Given the description of an element on the screen output the (x, y) to click on. 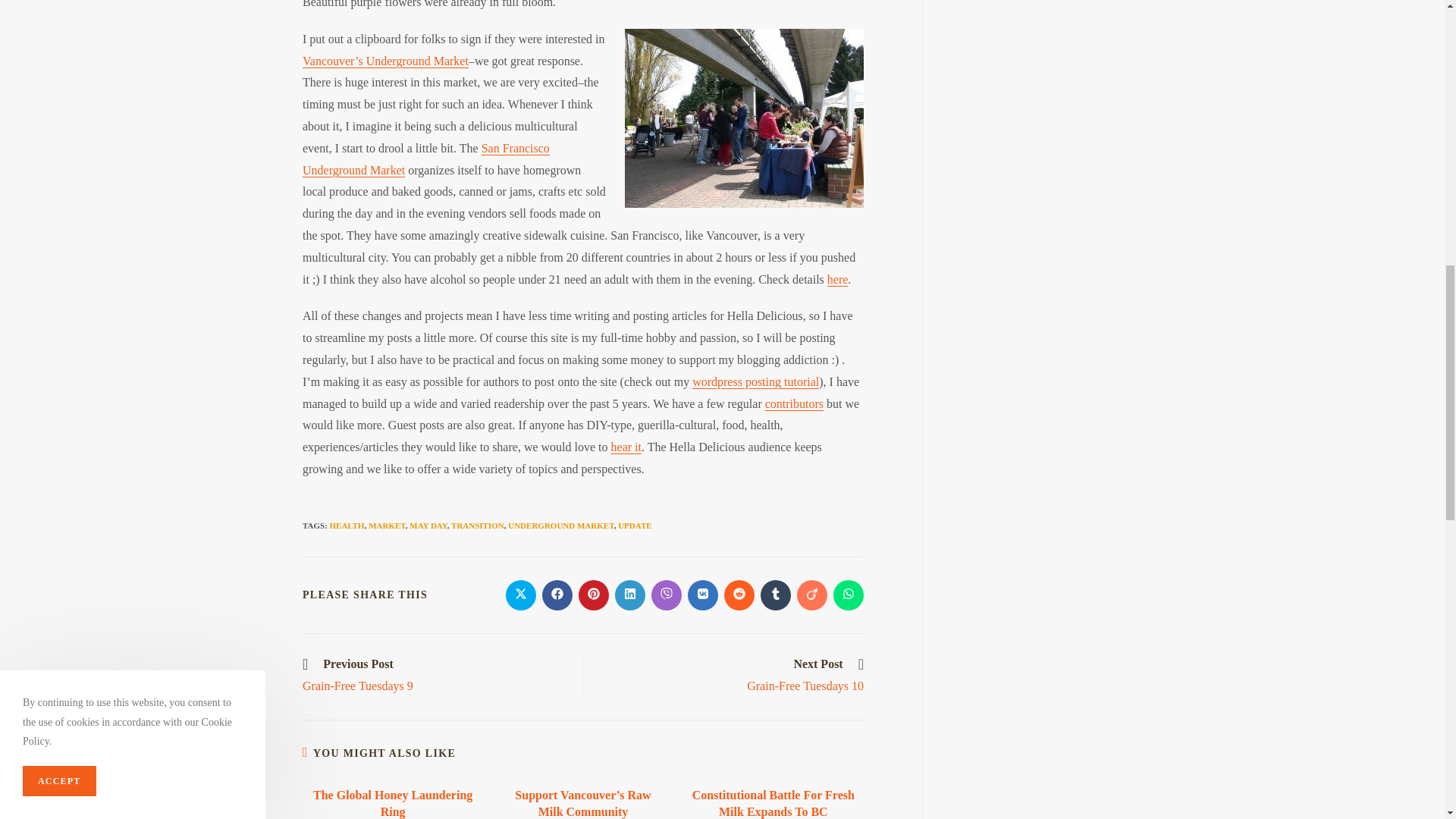
here (837, 278)
wordpress posting tutorial (755, 381)
hear it (626, 446)
Spring Fling (743, 118)
UPDATE (633, 524)
UNDERGROUND MARKET (560, 524)
contributors (794, 403)
San Francisco Underground Market (426, 158)
MARKET (387, 524)
MAY DAY (427, 524)
